Given the description of an element on the screen output the (x, y) to click on. 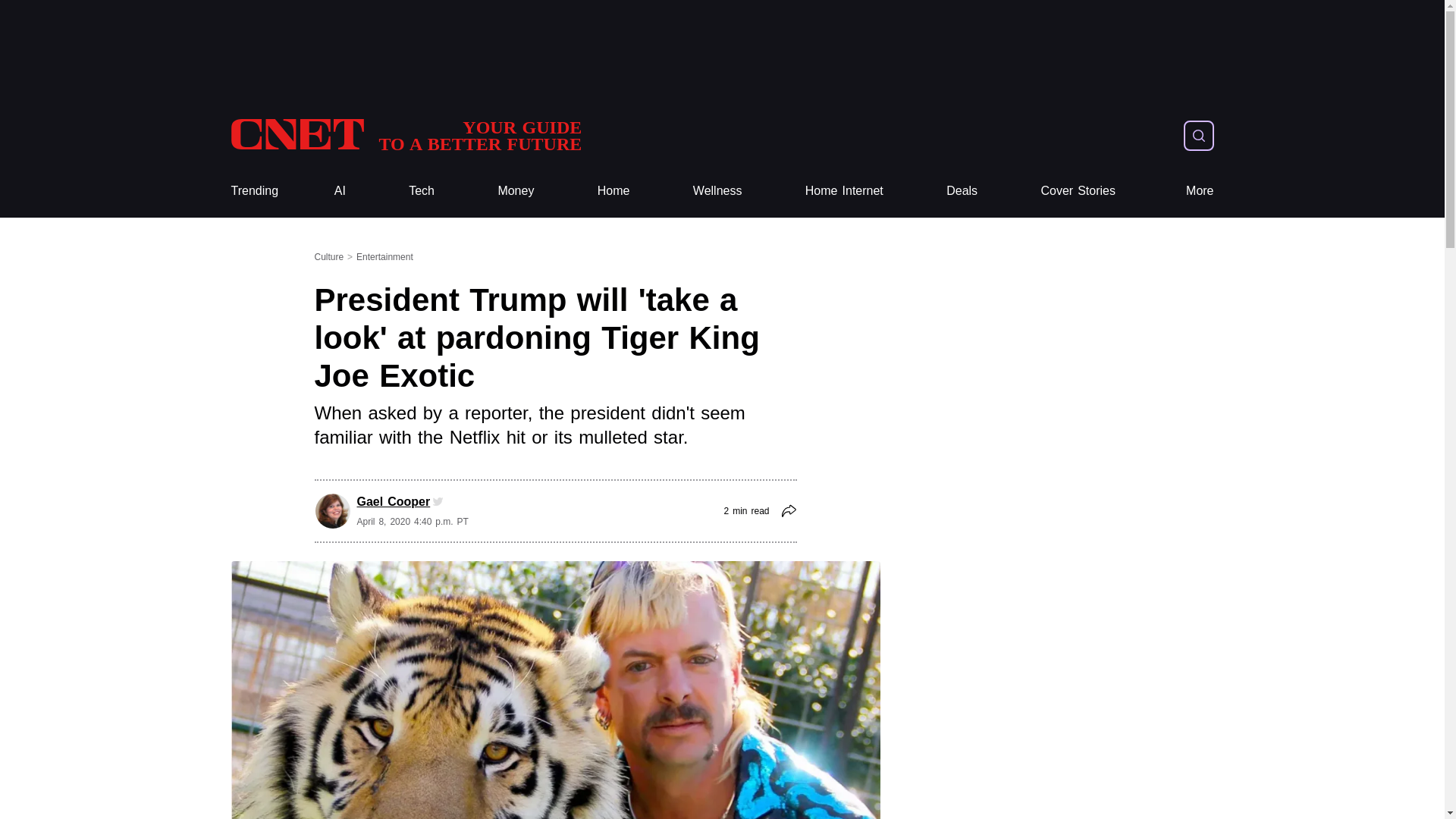
More (1199, 190)
Deals (961, 190)
Trending (254, 190)
Wellness (717, 190)
Home Internet (844, 190)
Cover Stories (1078, 190)
Tech (421, 190)
Home Internet (844, 190)
CNET (405, 135)
Trending (254, 190)
